Given the description of an element on the screen output the (x, y) to click on. 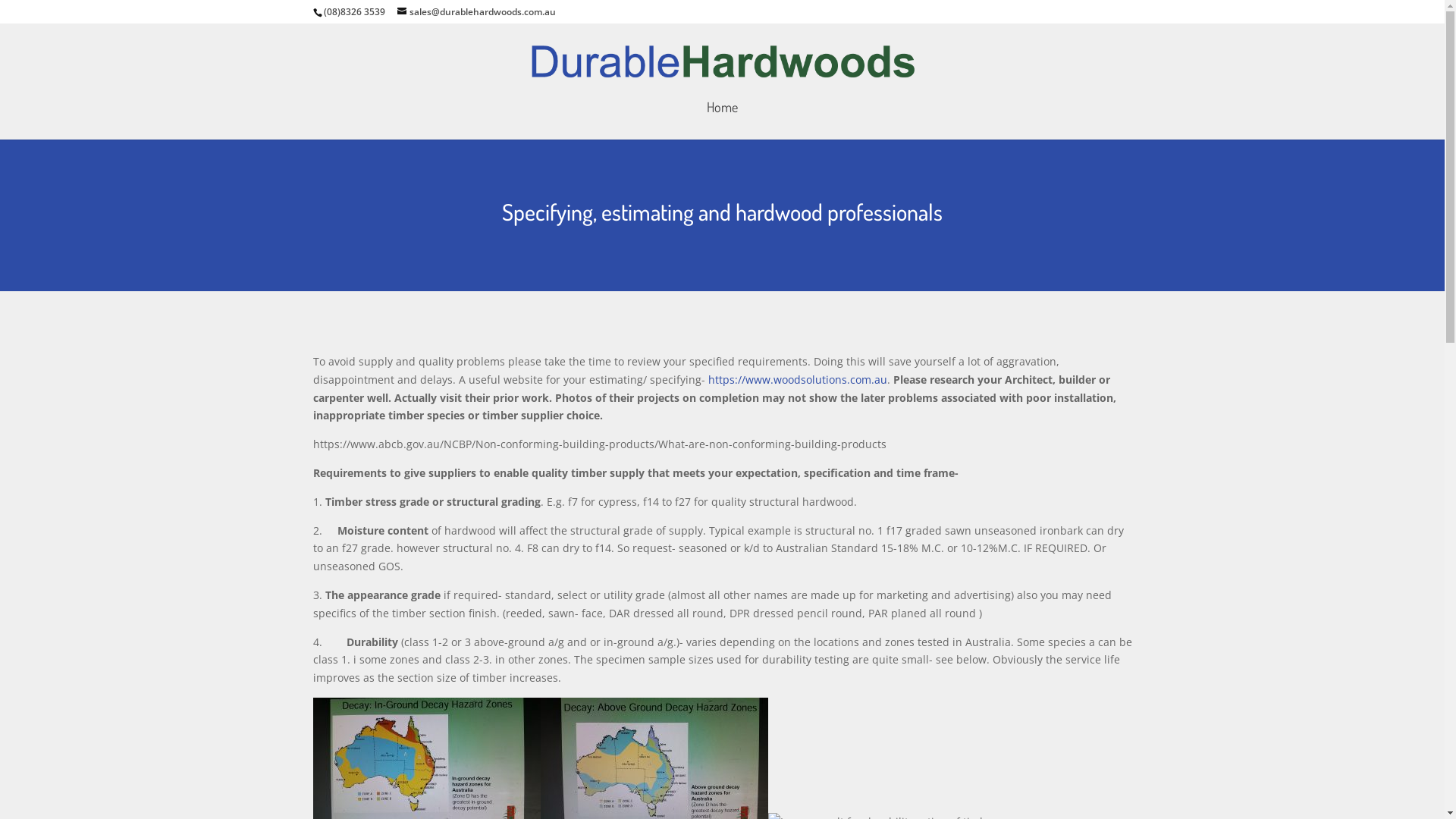
https://www.woodsolutions.com.au Element type: text (797, 379)
Home Element type: text (721, 120)
sales@durablehardwoods.com.au Element type: text (476, 11)
